Given the description of an element on the screen output the (x, y) to click on. 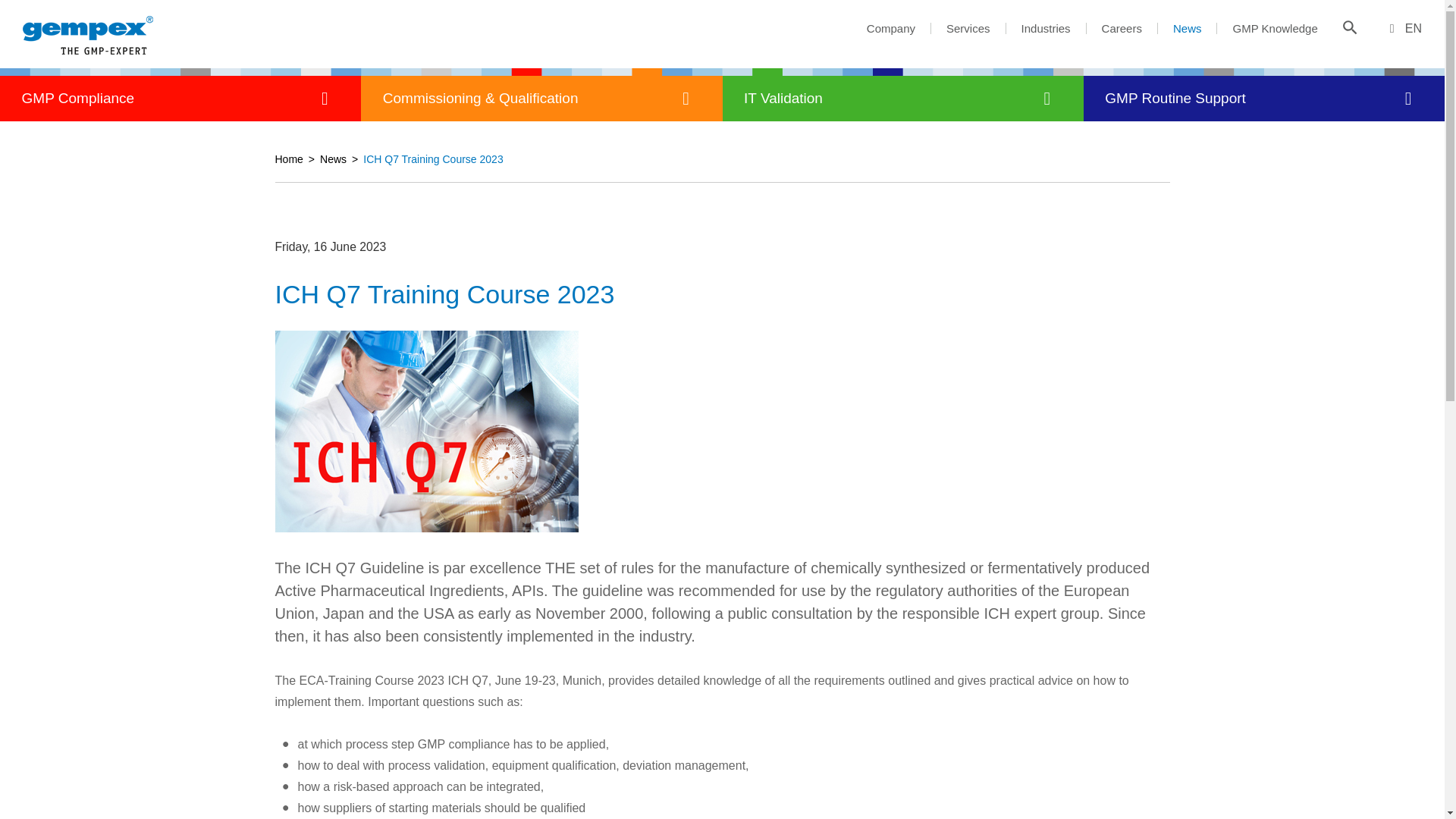
News (333, 204)
Services (968, 28)
Home (288, 204)
